Given the description of an element on the screen output the (x, y) to click on. 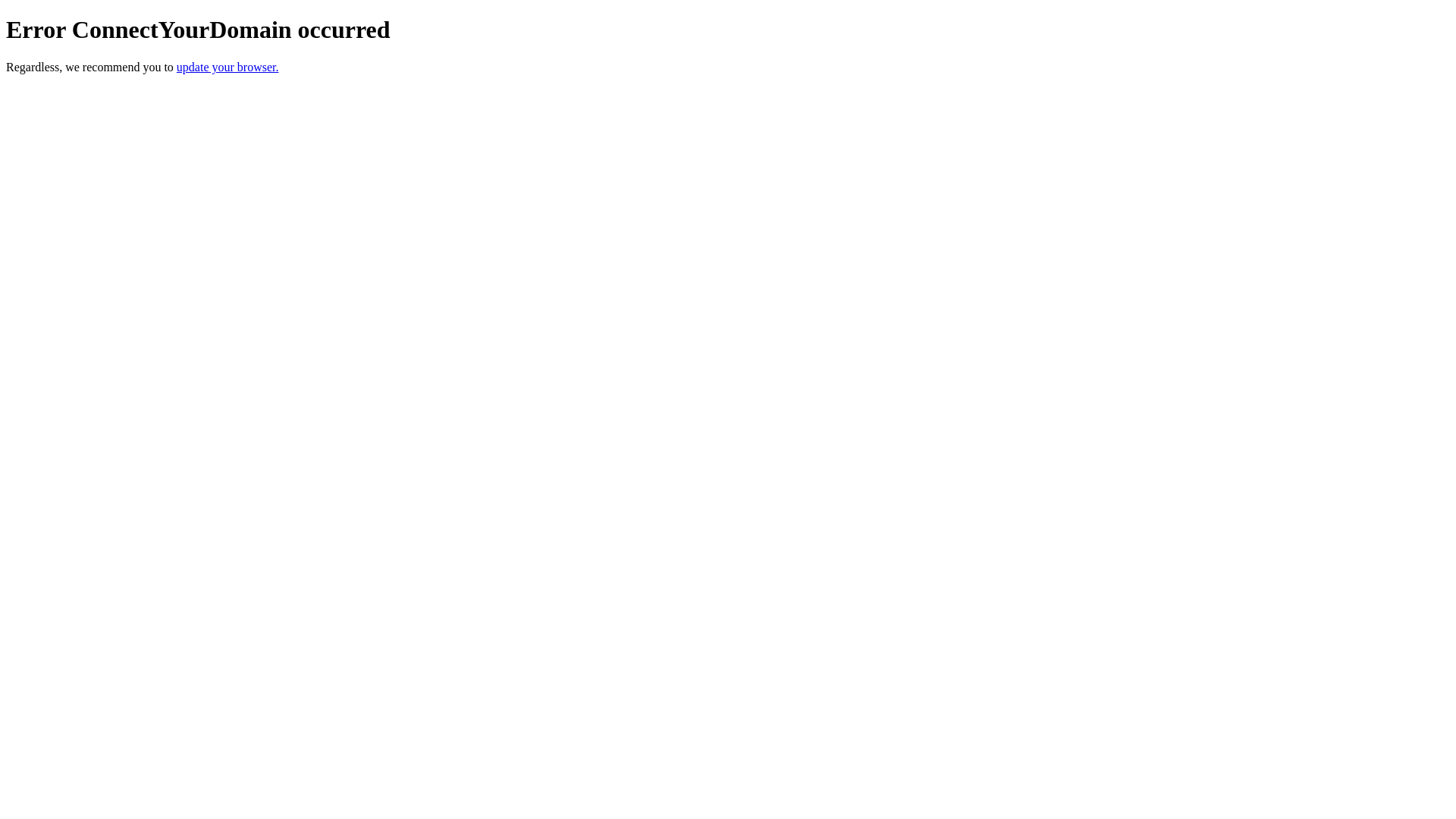
update your browser. Element type: text (227, 66)
